Given the description of an element on the screen output the (x, y) to click on. 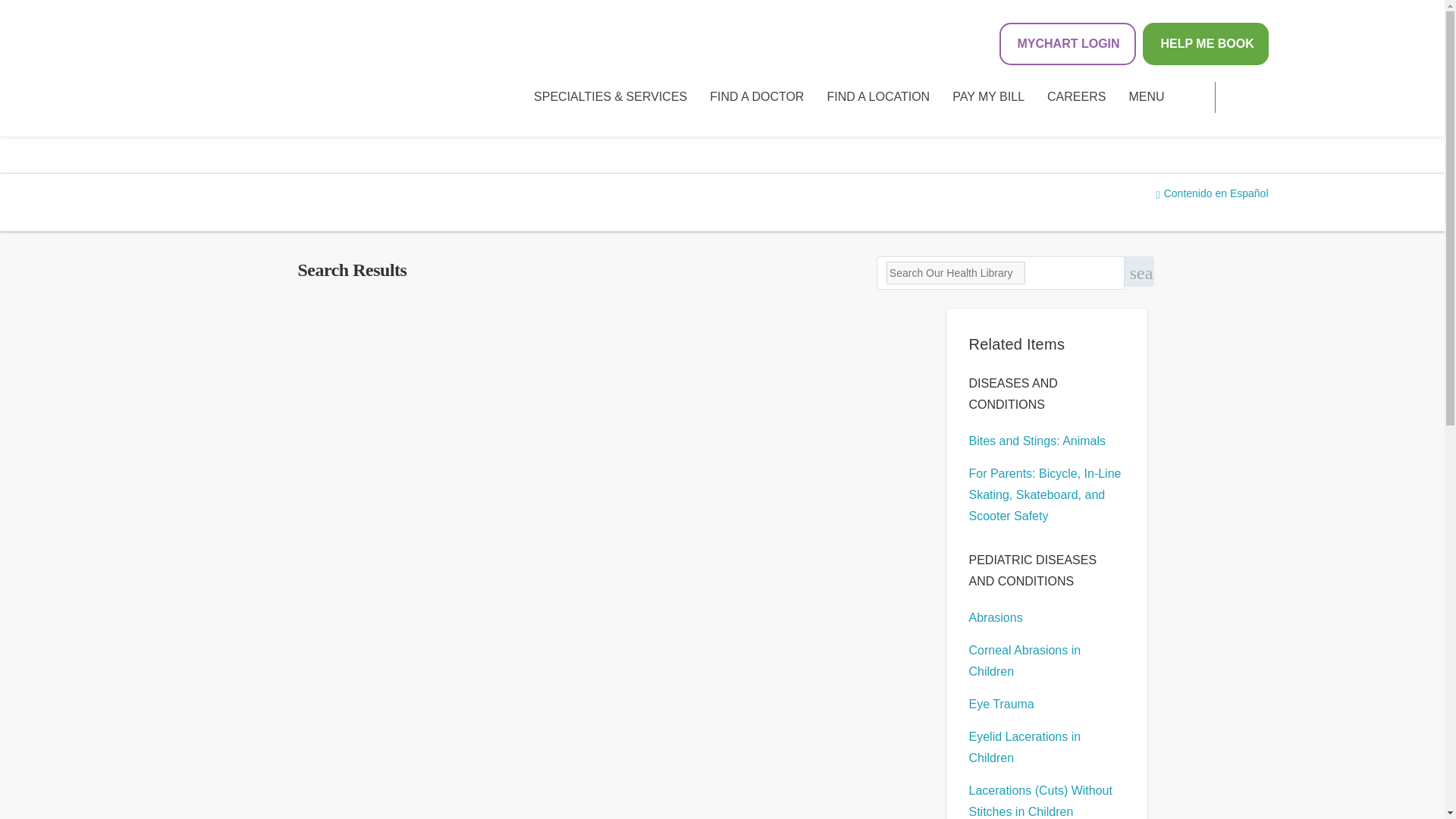
Submit Health Library Search (1139, 271)
CAREERS (1075, 96)
Austin Regional Clinic (267, 69)
Eyelid Lacerations in Children (1025, 747)
HELP ME BOOK (1204, 43)
Bites and Stings: Animals (1037, 440)
PAY MY BILL (988, 96)
Corneal Abrasions in Children (1025, 660)
FIND A LOCATION (878, 96)
SEARCH (1246, 97)
MYCHART LOGIN (1066, 43)
Abrasions (996, 617)
Eye Trauma (1001, 703)
MENU (1145, 96)
